Given the description of an element on the screen output the (x, y) to click on. 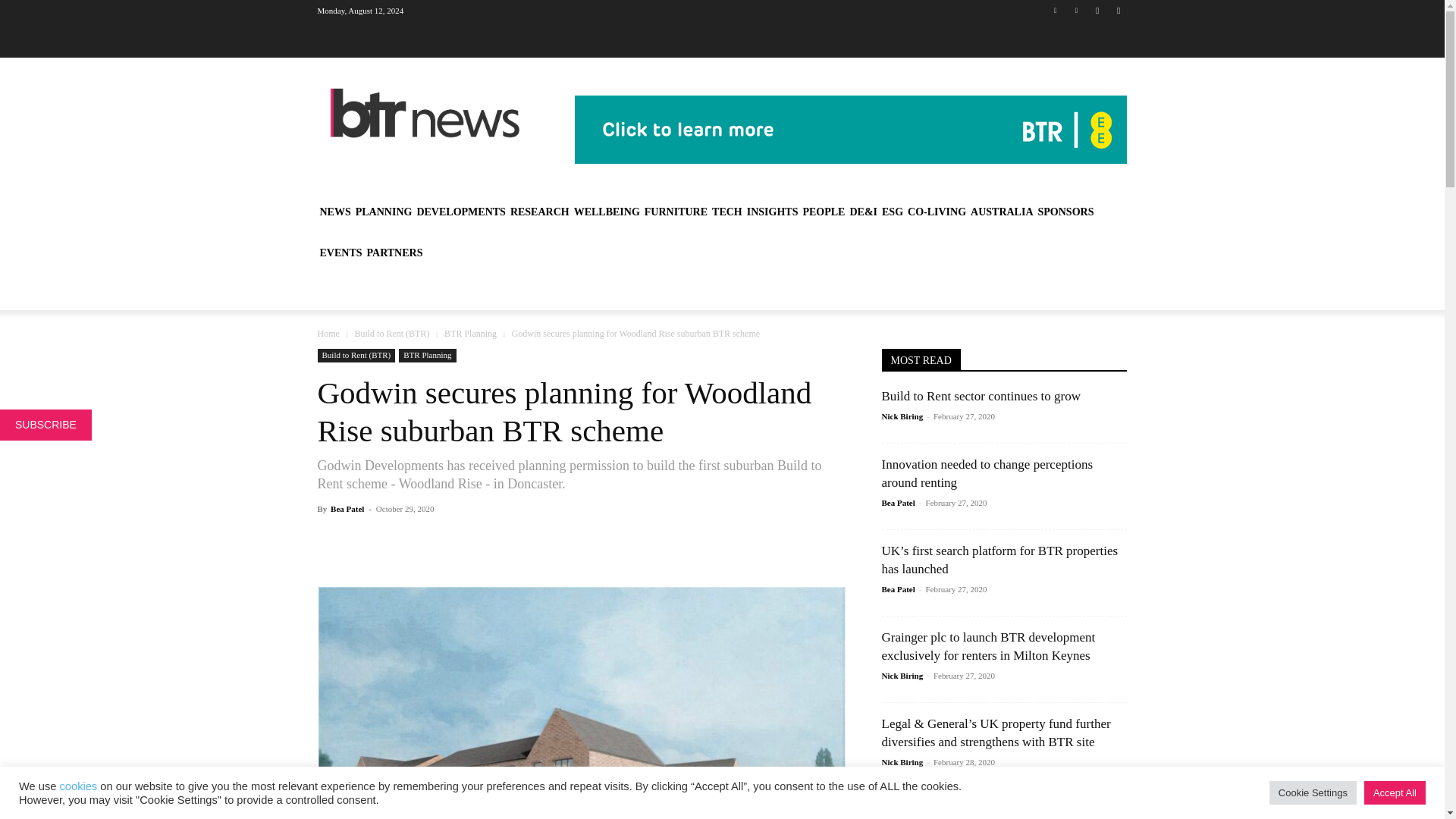
Instagram (1117, 9)
Facebook (1097, 9)
Linkedin (1055, 9)
BTR News (425, 113)
Twitter (1075, 9)
